Given the description of an element on the screen output the (x, y) to click on. 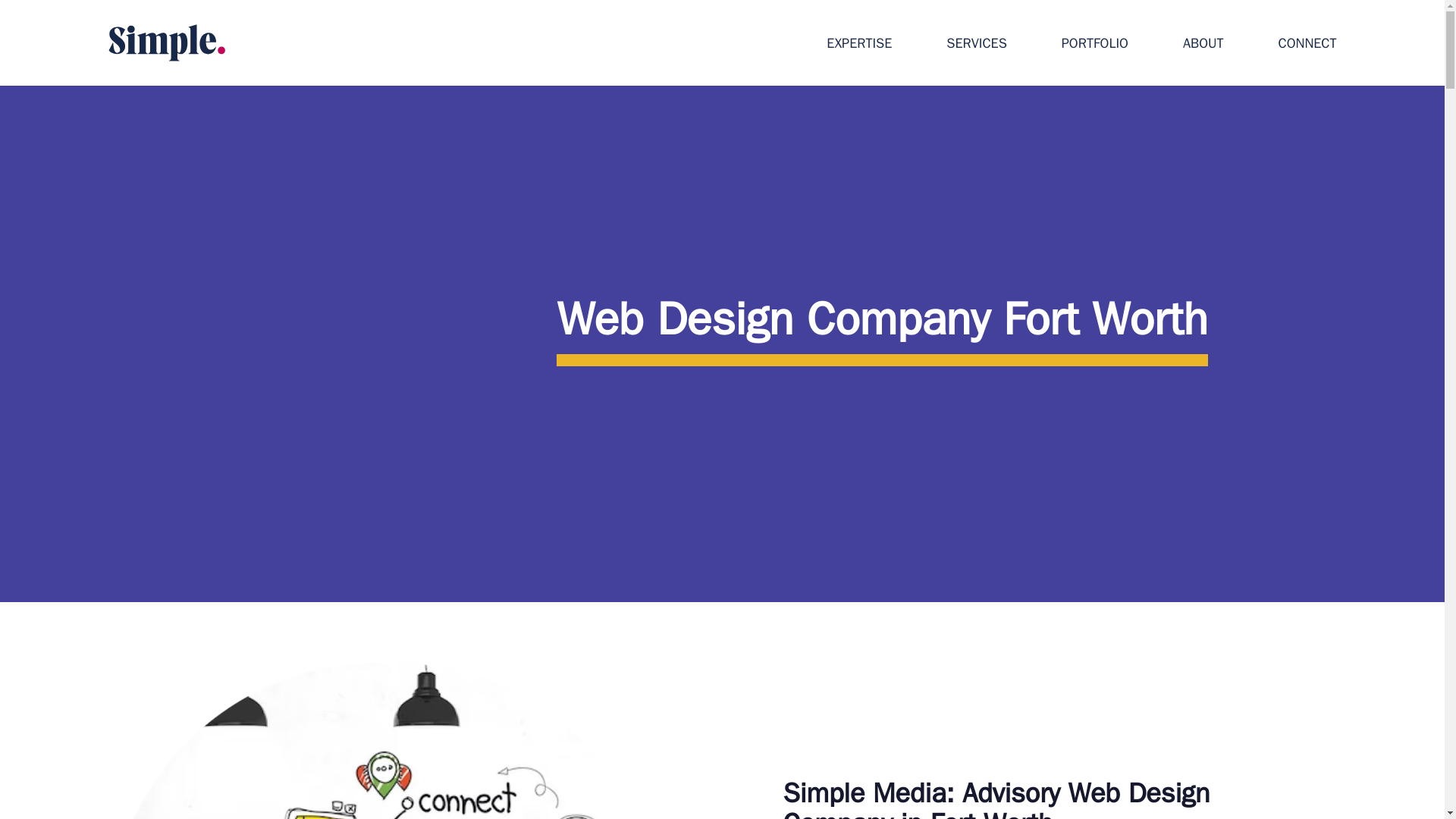
ABOUT (1203, 44)
EXPERTISE (859, 44)
SERVICES (976, 44)
PORTFOLIO (1094, 44)
CONNECT (1307, 44)
